Given the description of an element on the screen output the (x, y) to click on. 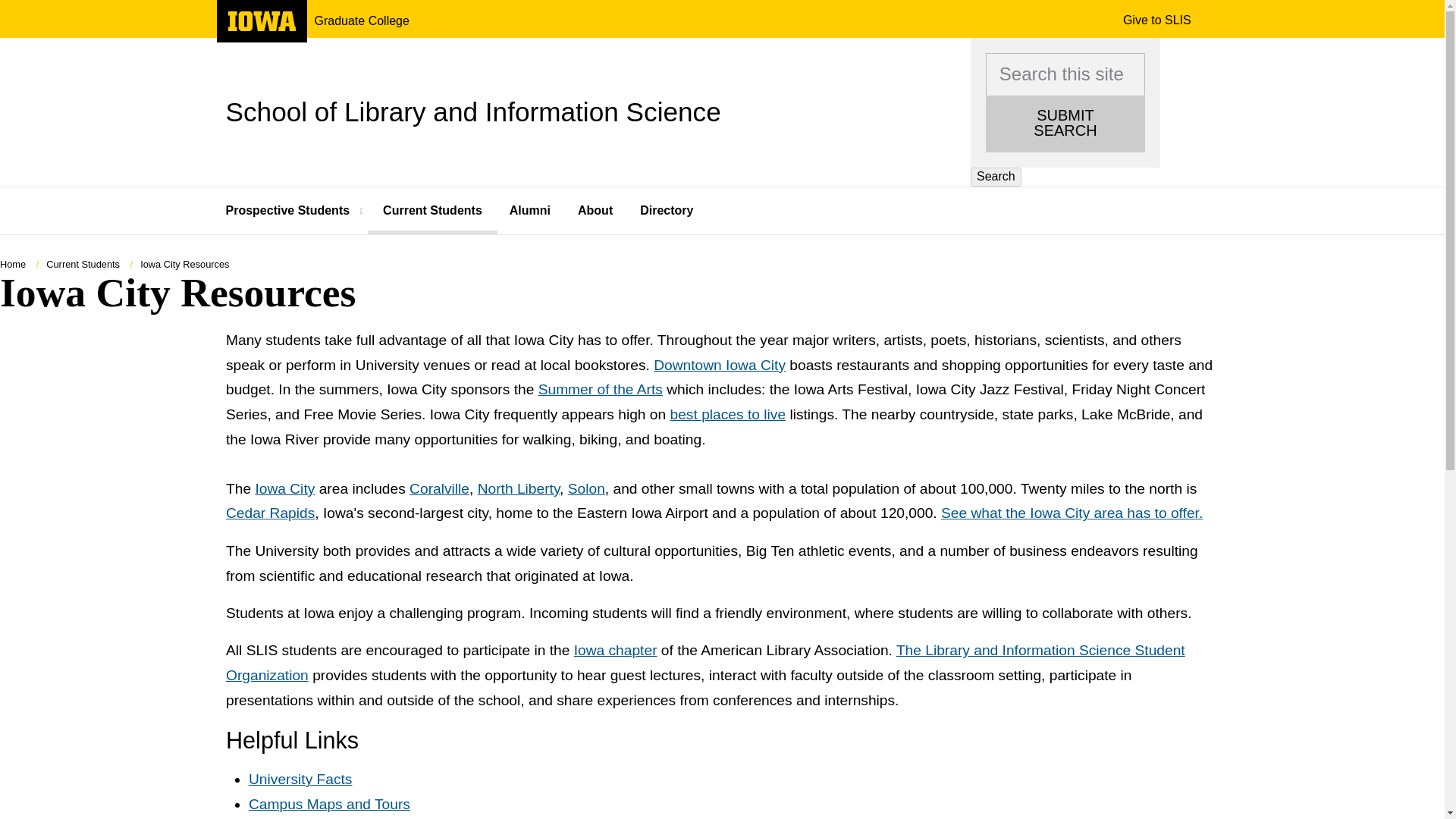
Home (13, 264)
Current Students (82, 264)
LISSO (705, 662)
Give to SLIS (1156, 20)
See what the Iowa City area has to offer. (261, 26)
Iowa City (1071, 513)
Downtown Iowa City (284, 488)
University Facts (719, 365)
Campus Maps and Tours (300, 779)
best places to live (329, 804)
Summer of the Arts (727, 414)
Prospective Students (599, 390)
Current Students (296, 210)
University of Iowa (432, 210)
